Given the description of an element on the screen output the (x, y) to click on. 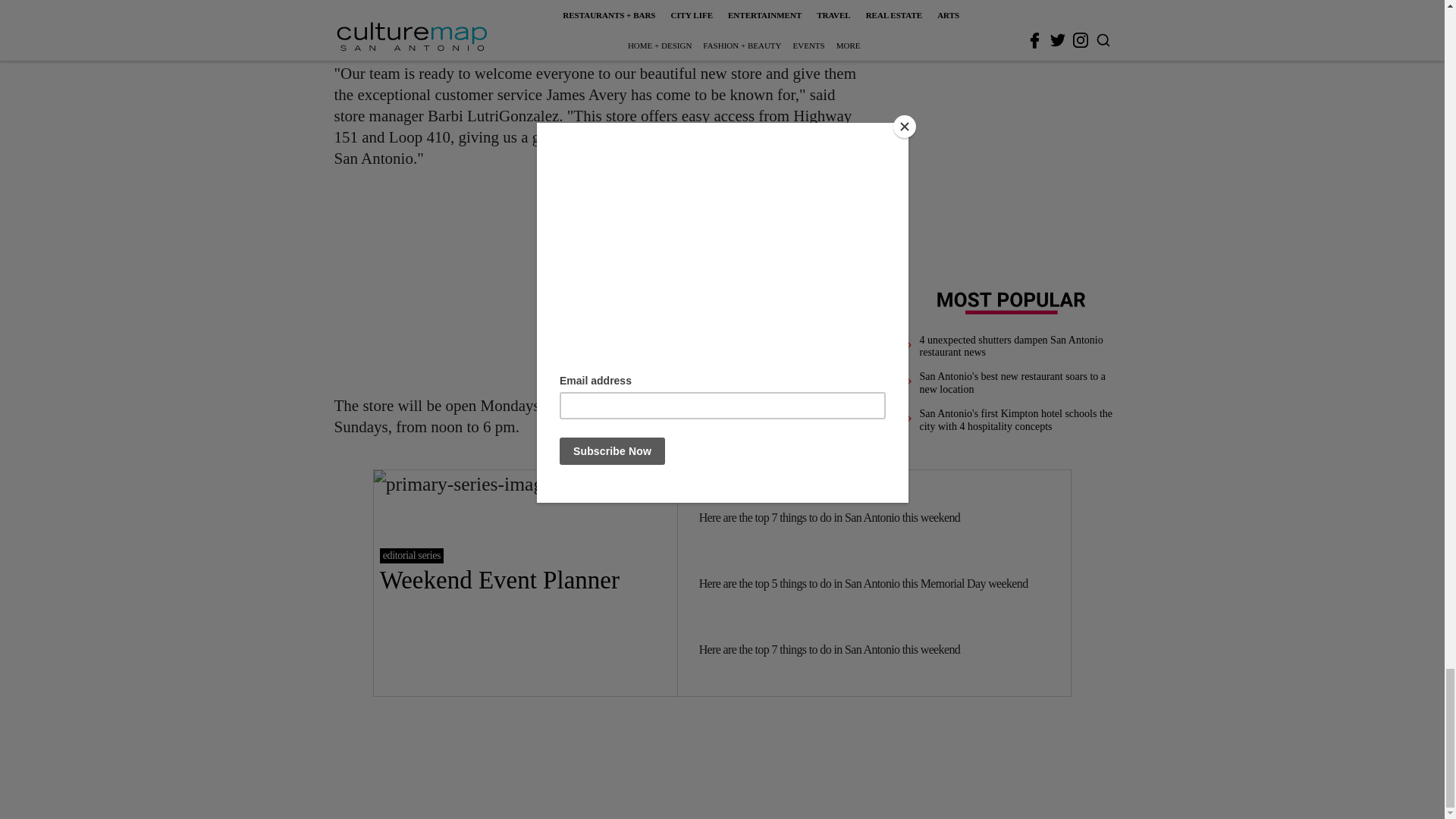
3rd party ad content (600, 281)
primary-link (525, 583)
